Given the description of an element on the screen output the (x, y) to click on. 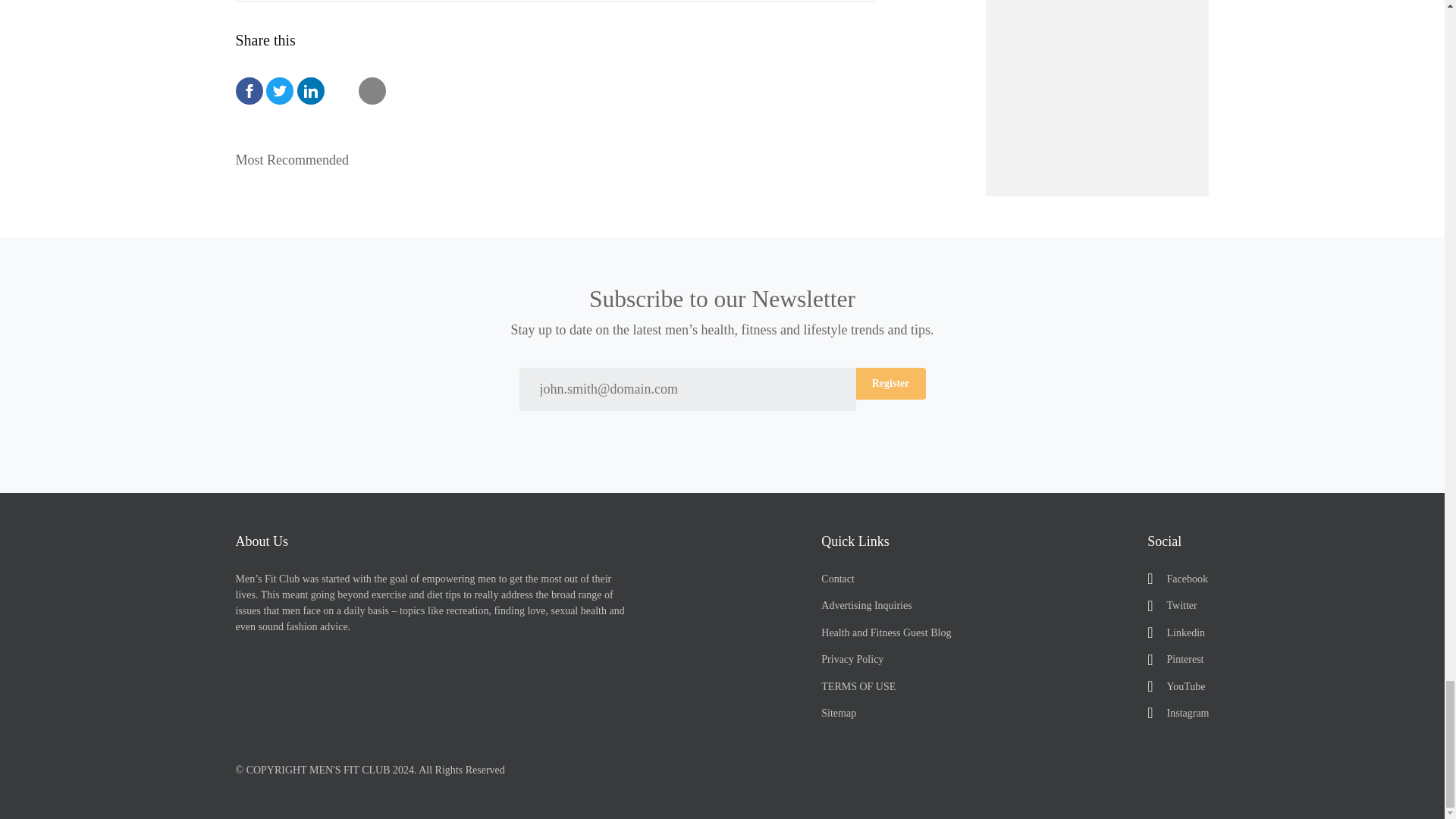
Facebook (1177, 578)
Privacy Policy (885, 659)
TERMS OF USE (885, 686)
Register (891, 383)
Instagram (1177, 713)
Pinterest (1177, 659)
Sitemap (885, 713)
Health and Fitness Guest Blog (885, 632)
Linkedin (1177, 632)
Advertising Inquiries (885, 605)
